Given the description of an element on the screen output the (x, y) to click on. 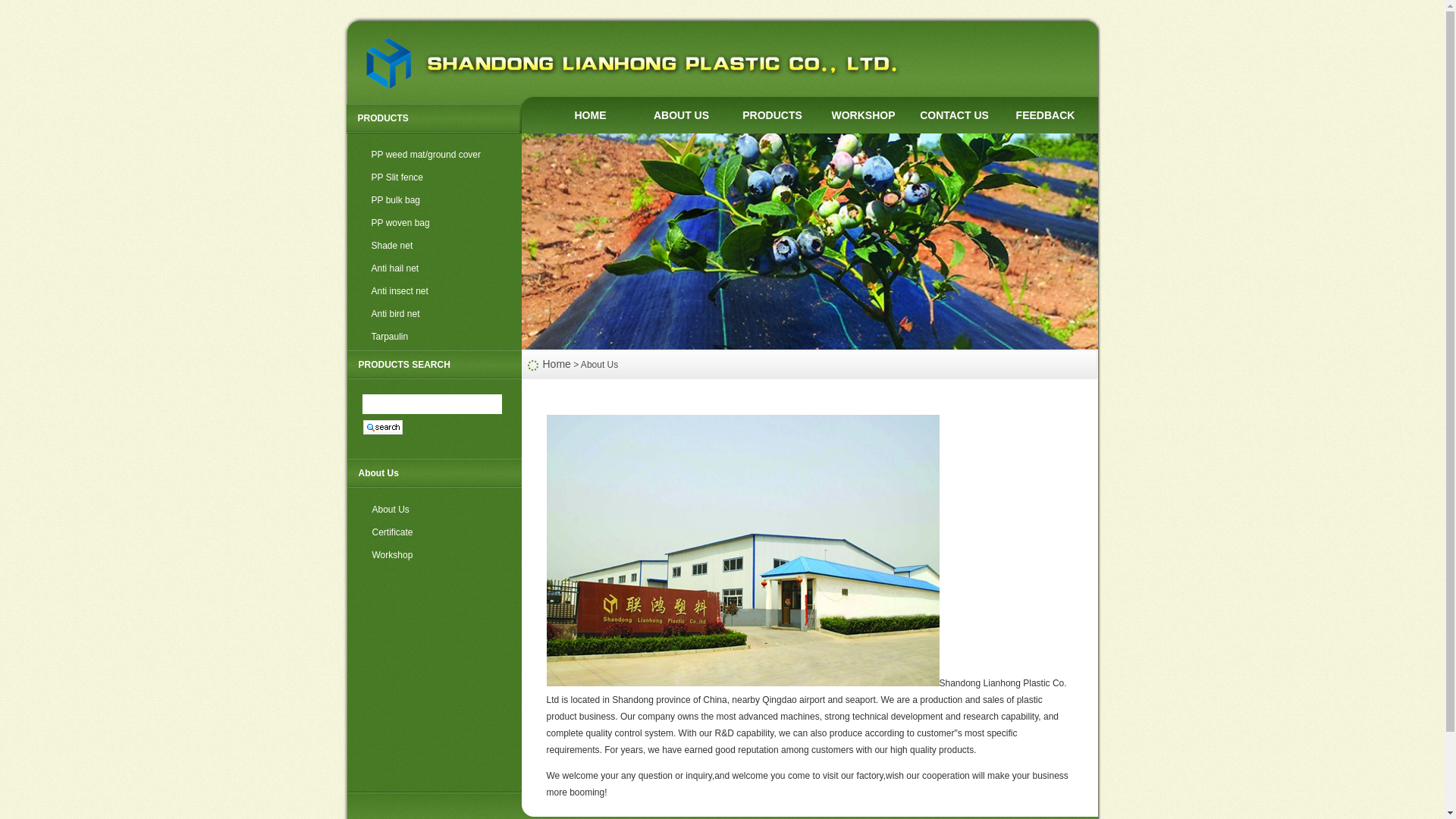
About Us (433, 509)
Anti insect net (433, 291)
Tarpaulin (433, 336)
Workshop (433, 555)
Home (556, 363)
Shade net (433, 246)
Certificate (433, 532)
PRODUCTS (771, 115)
Anti hail net (433, 268)
ABOUT US (680, 115)
